Given the description of an element on the screen output the (x, y) to click on. 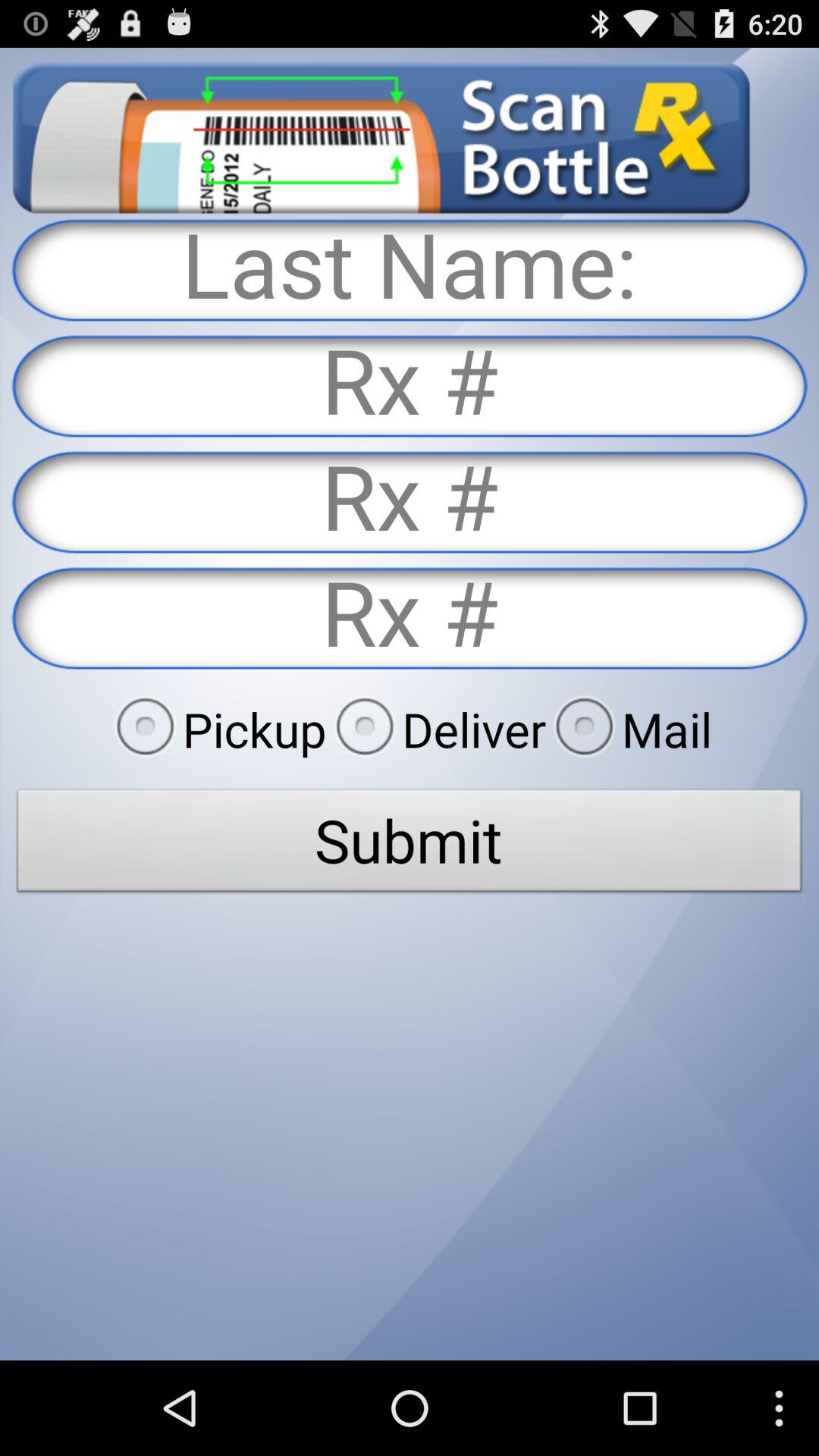
select button above the submit button (216, 728)
